Given the description of an element on the screen output the (x, y) to click on. 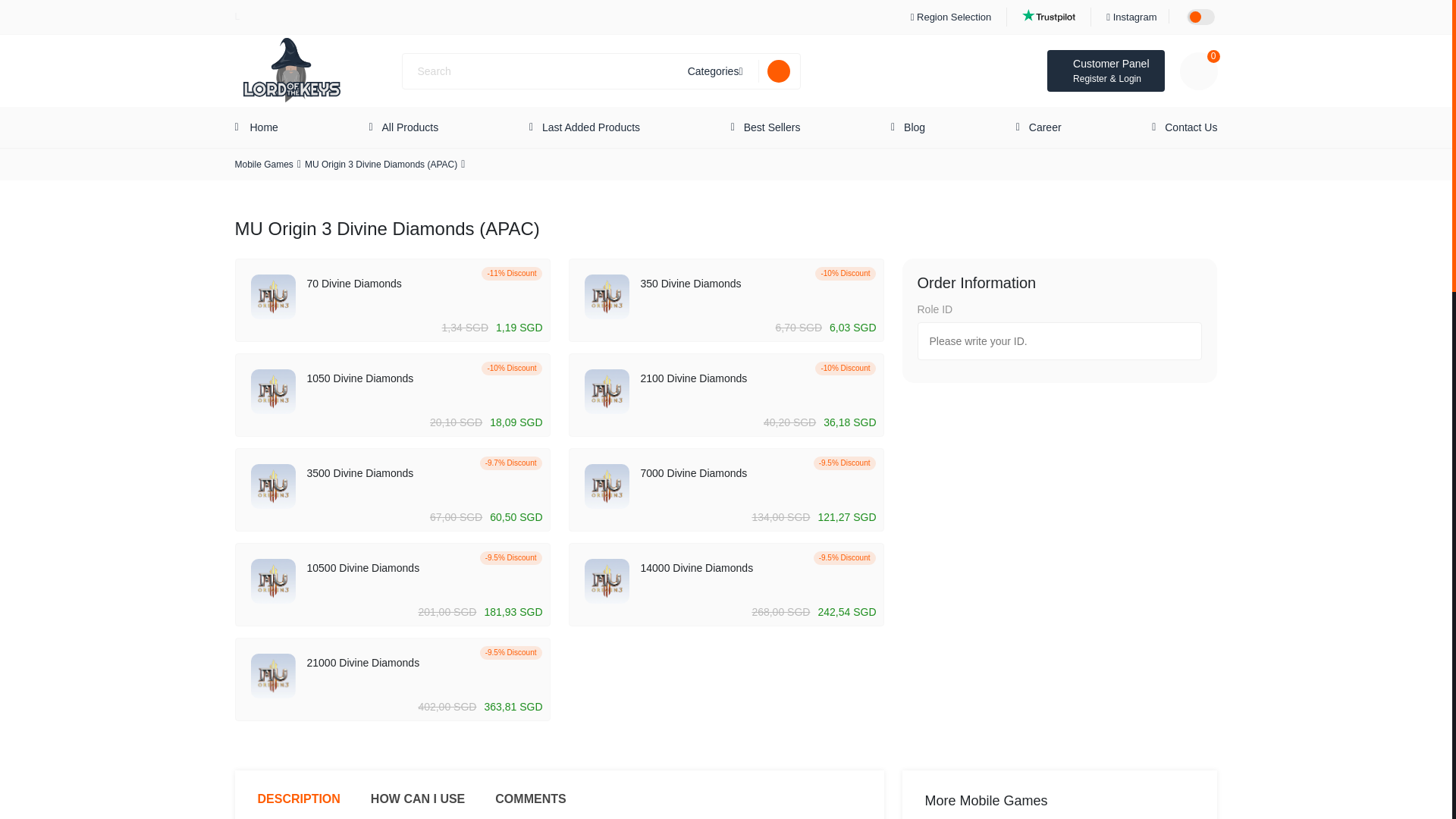
Blog (914, 126)
Categories (715, 70)
Instagram (1135, 16)
Home (262, 126)
All Products (410, 126)
Login (1130, 78)
Categories (715, 70)
Best Sellers (771, 126)
Register (1089, 78)
Last Added Products (590, 126)
Region Selection (954, 16)
Career (1045, 126)
